Given the description of an element on the screen output the (x, y) to click on. 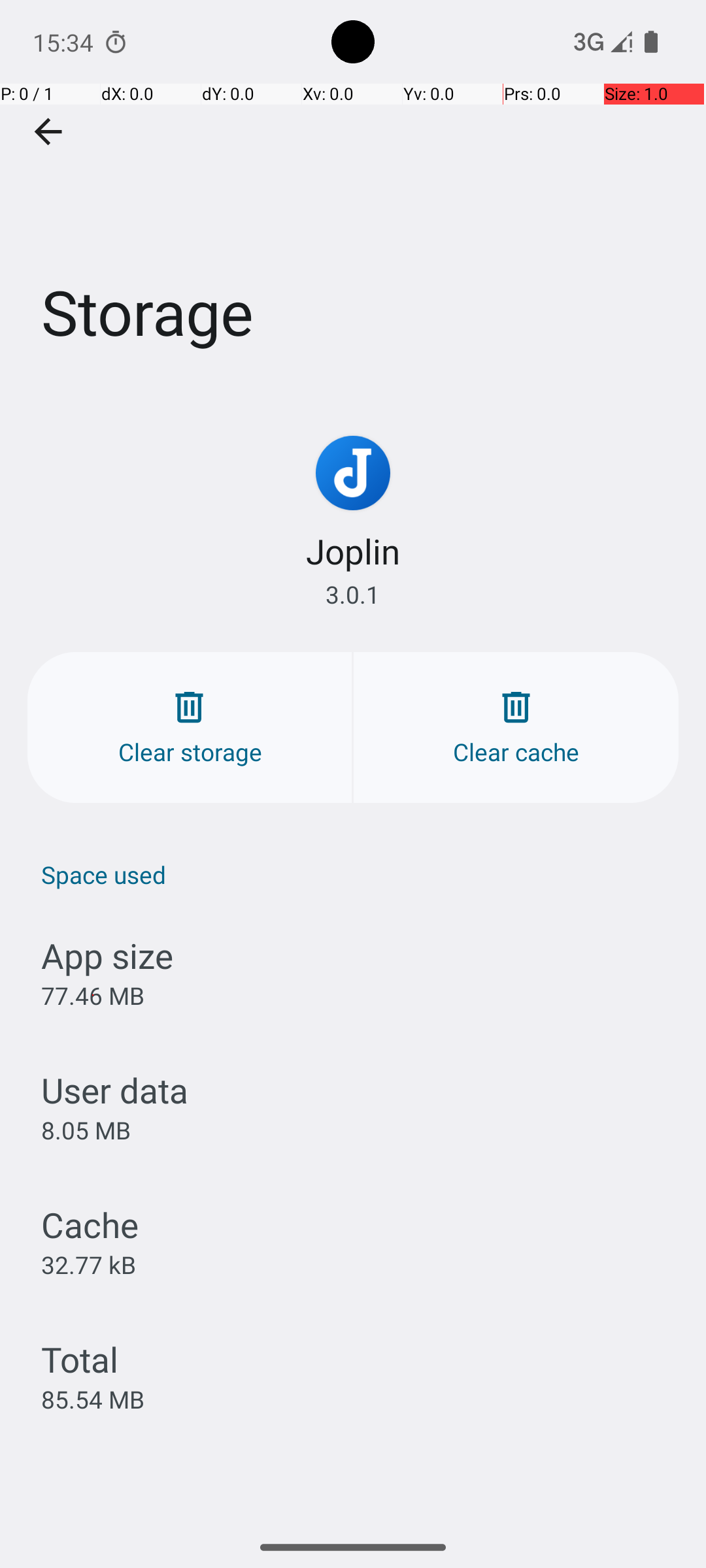
3.0.1 Element type: android.widget.TextView (352, 593)
77.46 MB Element type: android.widget.TextView (92, 995)
8.05 MB Element type: android.widget.TextView (85, 1129)
32.77 kB Element type: android.widget.TextView (88, 1264)
85.54 MB Element type: android.widget.TextView (92, 1398)
